Given the description of an element on the screen output the (x, y) to click on. 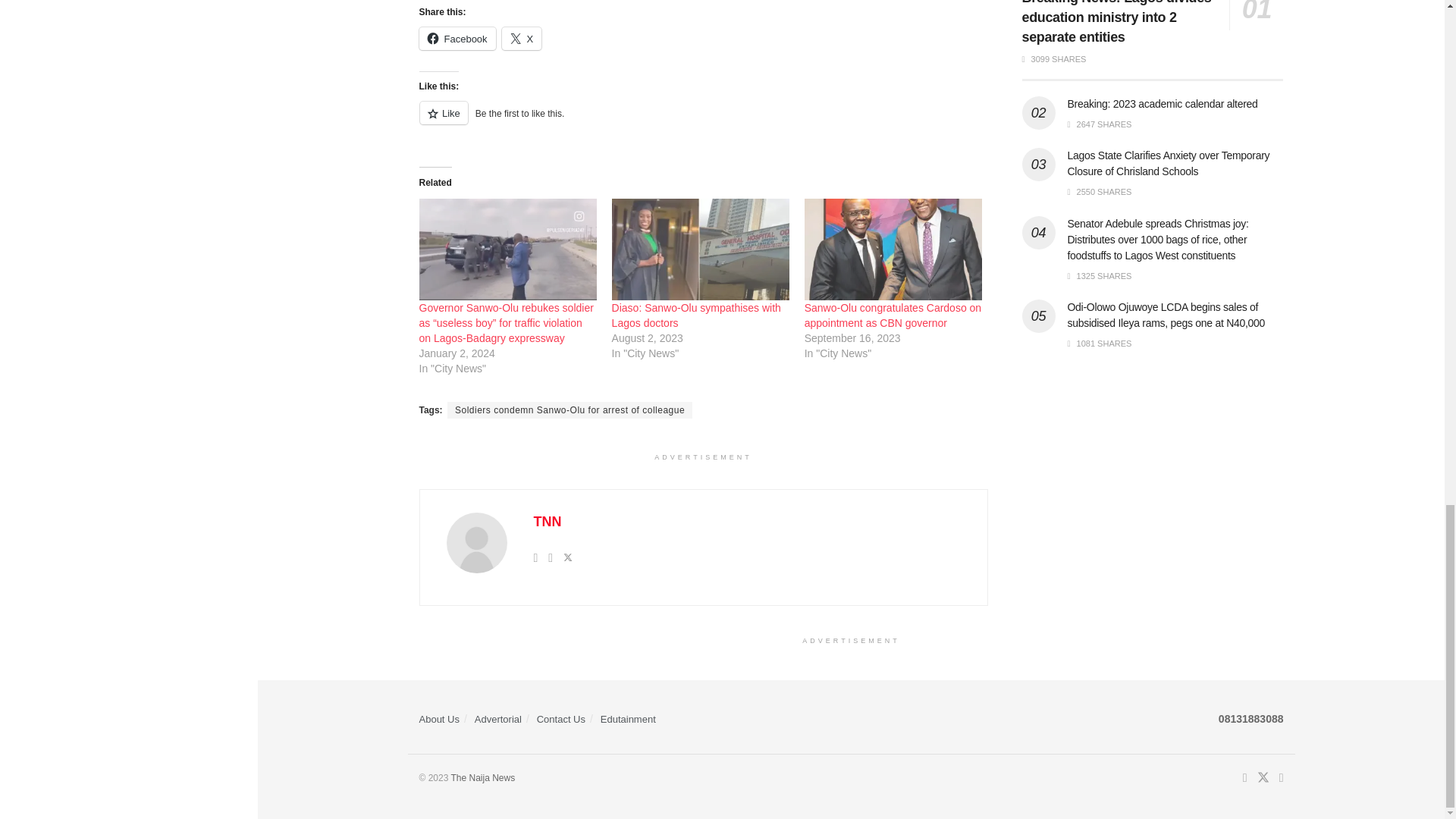
Click to share on X (521, 38)
Click to share on Facebook (457, 38)
Like or Reblog (703, 121)
Diaso: Sanwo-Olu sympathises with Lagos doctors (700, 249)
Diaso: Sanwo-Olu sympathises with Lagos doctors (695, 314)
